Given the description of an element on the screen output the (x, y) to click on. 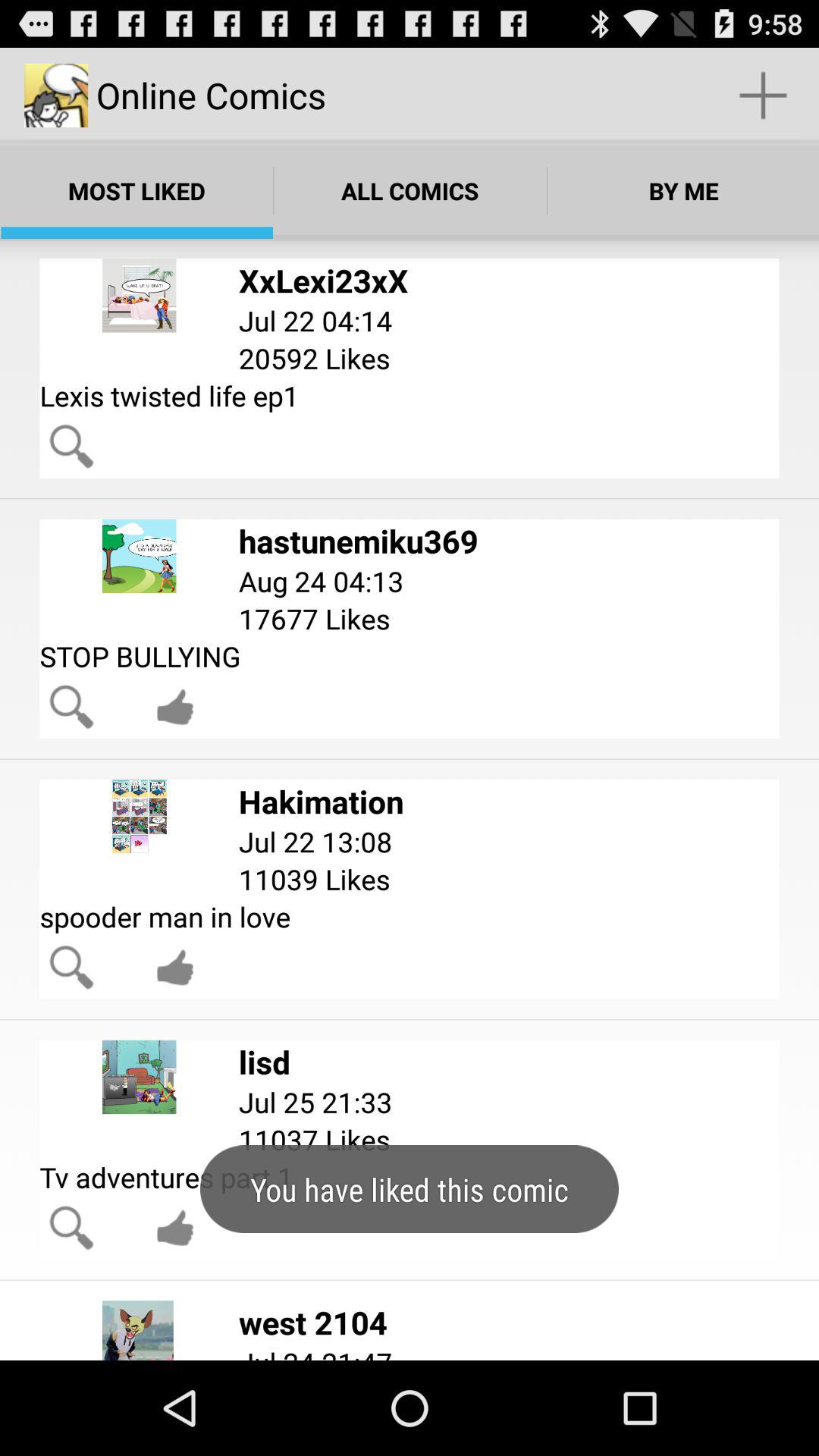
search user (71, 446)
